Given the description of an element on the screen output the (x, y) to click on. 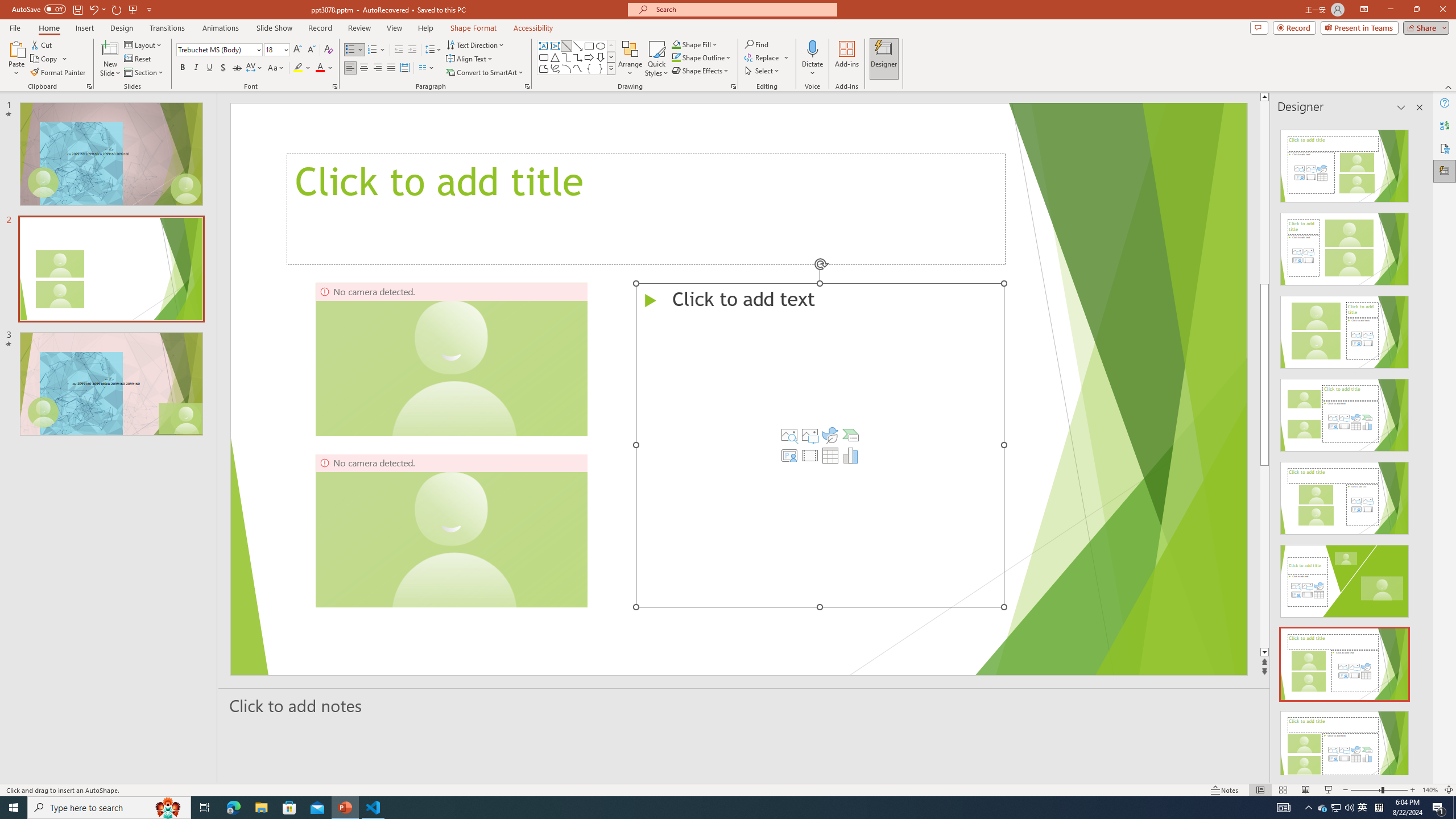
Freeform: Scribble (554, 68)
Distributed (404, 67)
Oval (600, 45)
